Given the description of an element on the screen output the (x, y) to click on. 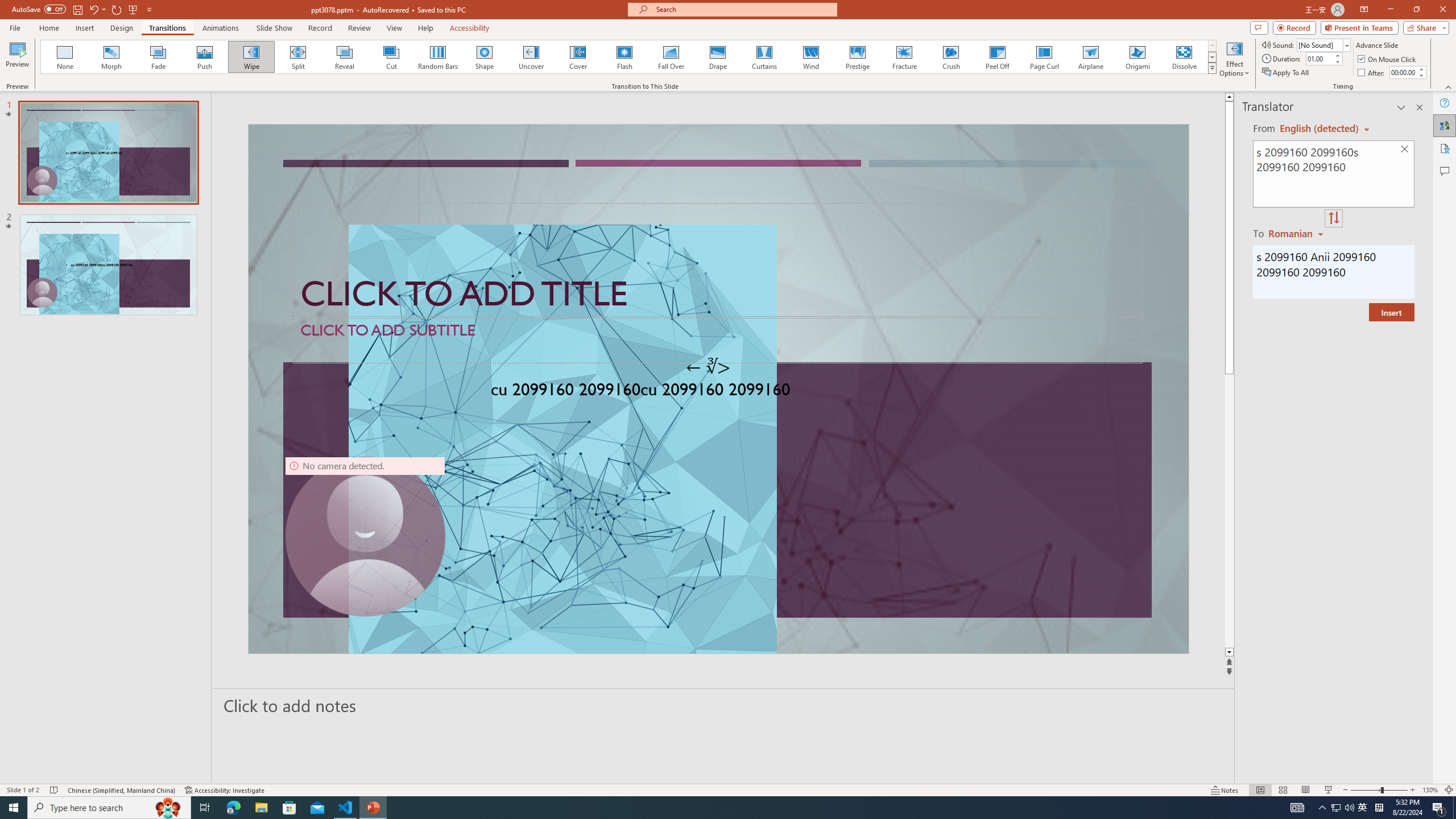
Duration (1319, 58)
Curtains (764, 56)
Line up (1229, 96)
Row Down (1212, 56)
Clear text (1404, 149)
Wind (810, 56)
Slide Notes (724, 705)
Random Bars (437, 56)
Microsoft search (742, 9)
